Given the description of an element on the screen output the (x, y) to click on. 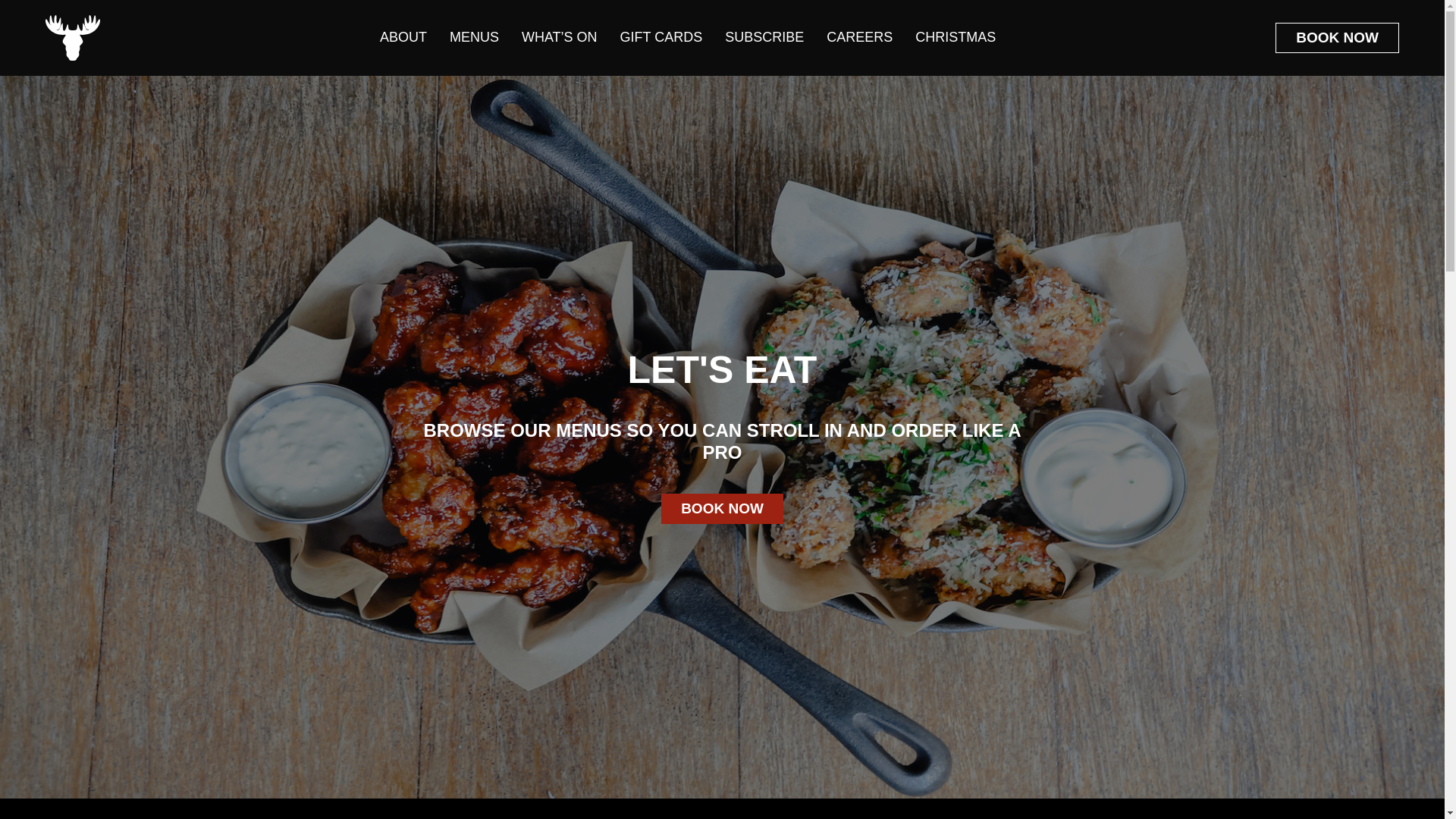
BOOK NOW (722, 508)
GIFT CARDS (660, 37)
CHRISTMAS (954, 37)
SUBSCRIBE (764, 37)
MENUS (473, 37)
BOOK NOW (1337, 37)
ABOUT (402, 37)
CAREERS (859, 37)
